Given the description of an element on the screen output the (x, y) to click on. 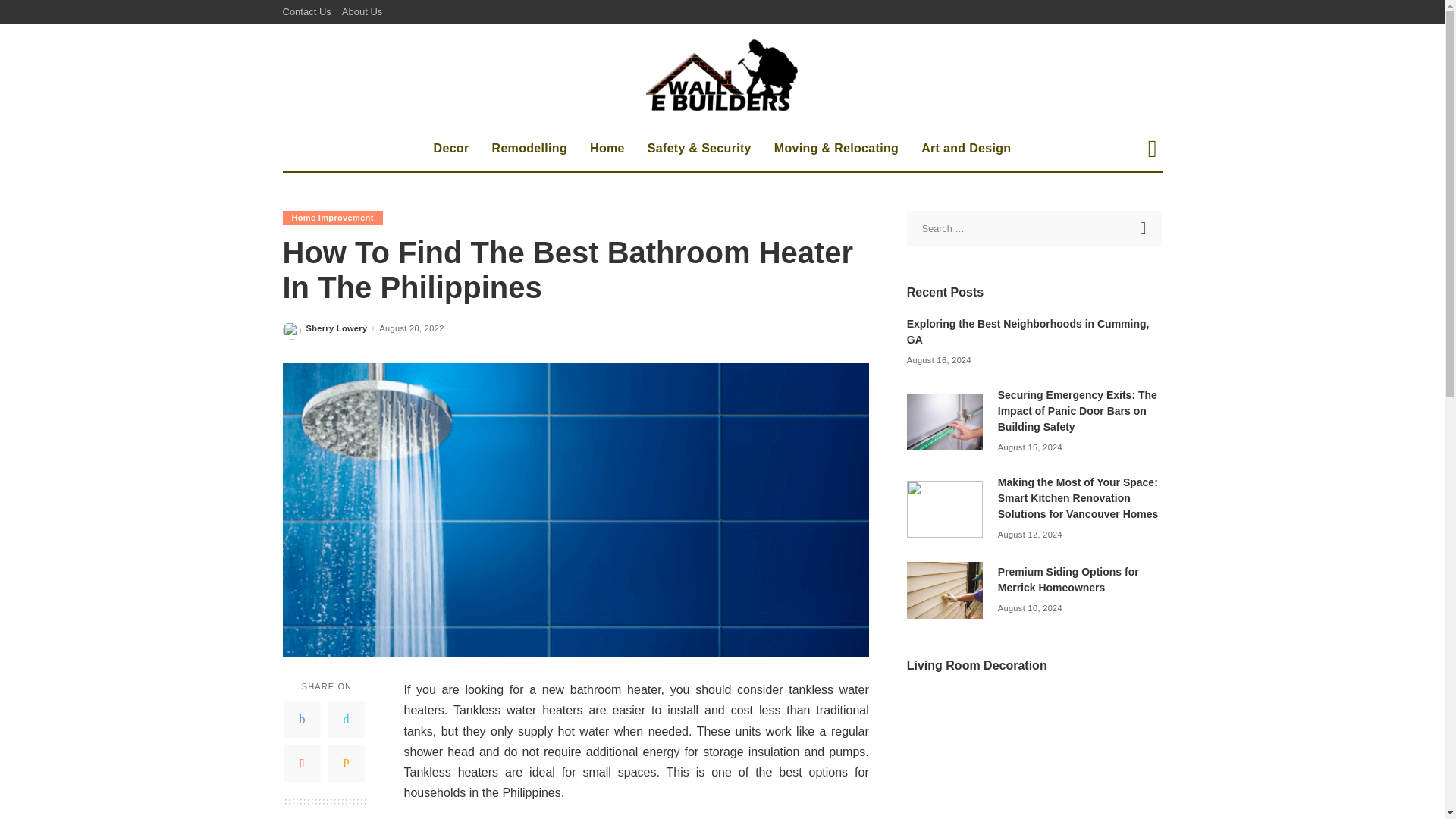
Search (1143, 227)
Home (607, 148)
Art and Design (966, 148)
Twitter (345, 719)
Search (1140, 201)
Home Improvement (331, 217)
Remodelling (529, 148)
Email (345, 763)
Search (1143, 227)
Facebook (301, 719)
